Given the description of an element on the screen output the (x, y) to click on. 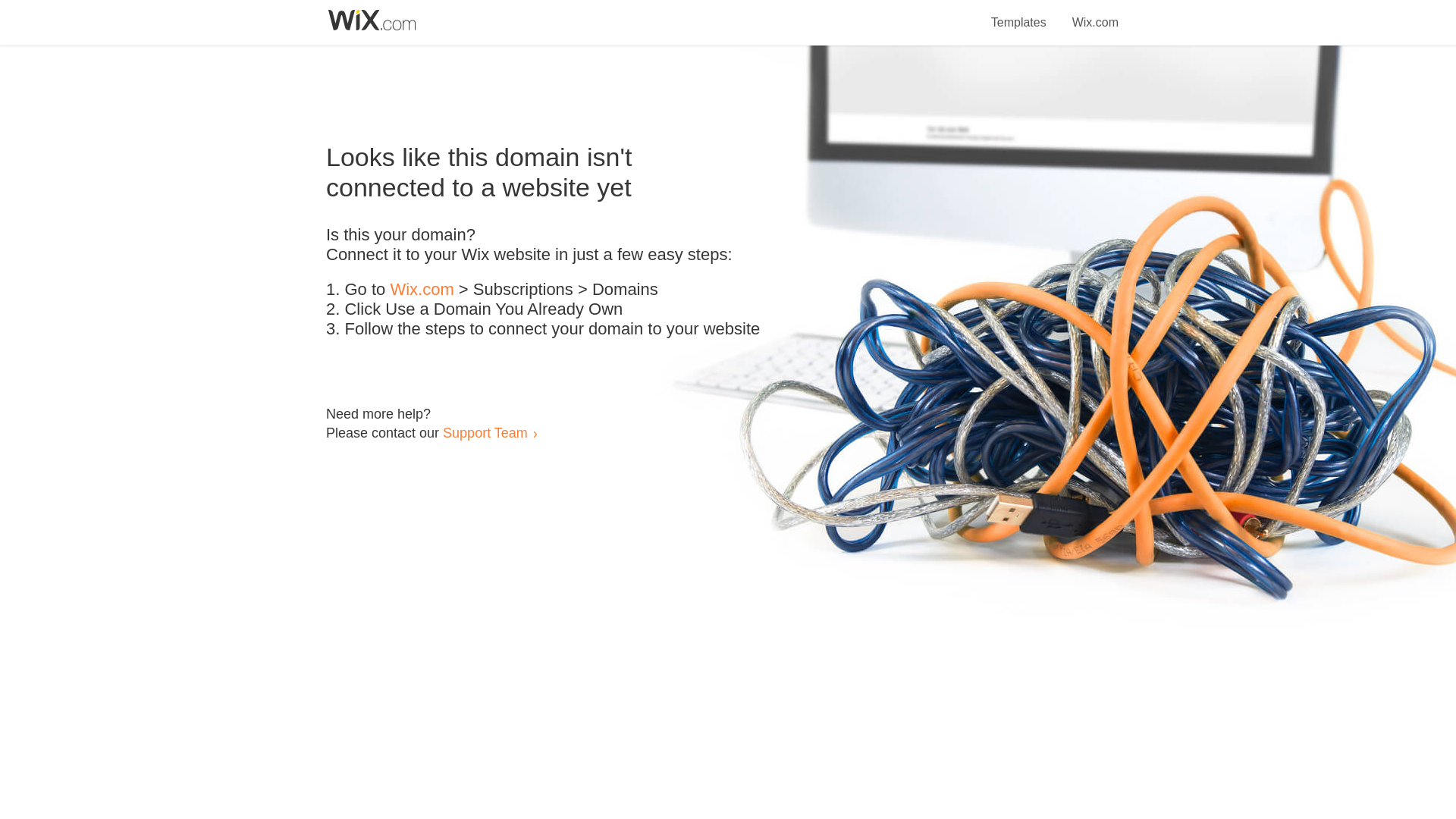
Templates (1018, 14)
Wix.com (421, 289)
Support Team (484, 432)
Wix.com (1095, 14)
